Given the description of an element on the screen output the (x, y) to click on. 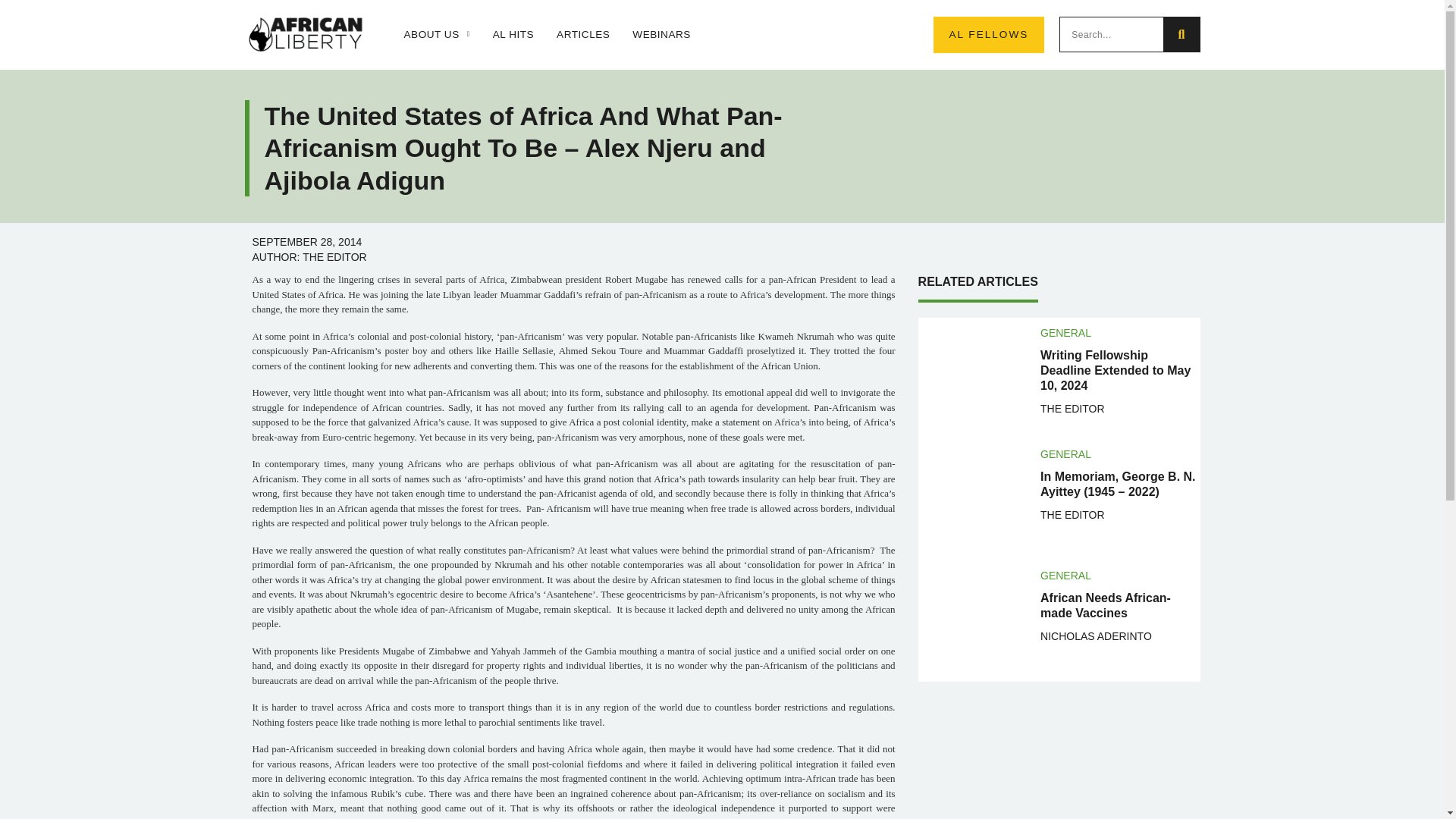
AL HITS (513, 34)
WEBINARS (660, 34)
ARTICLES (583, 34)
AL FELLOWS (988, 34)
ABOUT US (435, 34)
